Given the description of an element on the screen output the (x, y) to click on. 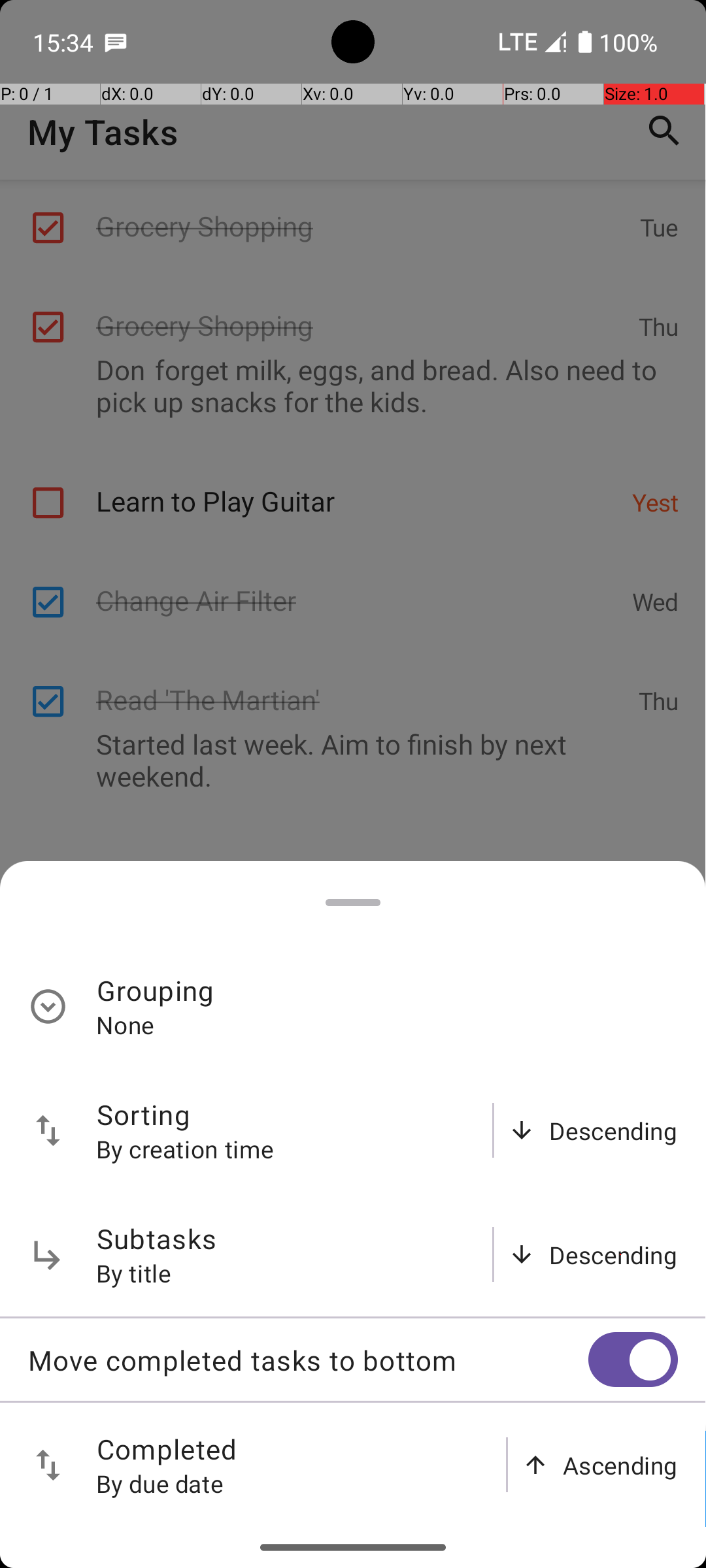
Drag handle Element type: android.view.View (352, 902)
Grouping Element type: android.widget.TextView (155, 989)
Sorting Element type: android.widget.TextView (143, 1113)
By creation time Element type: android.widget.TextView (184, 1148)
Subtasks Element type: android.widget.TextView (156, 1238)
By title Element type: android.widget.TextView (133, 1273)
Move completed tasks to bottom Element type: android.widget.TextView (307, 1359)
Completed Element type: android.widget.TextView (166, 1448)
By due date Element type: android.widget.TextView (160, 1483)
Descending Element type: android.widget.TextView (613, 1130)
Ascending Element type: android.widget.TextView (619, 1465)
